Given the description of an element on the screen output the (x, y) to click on. 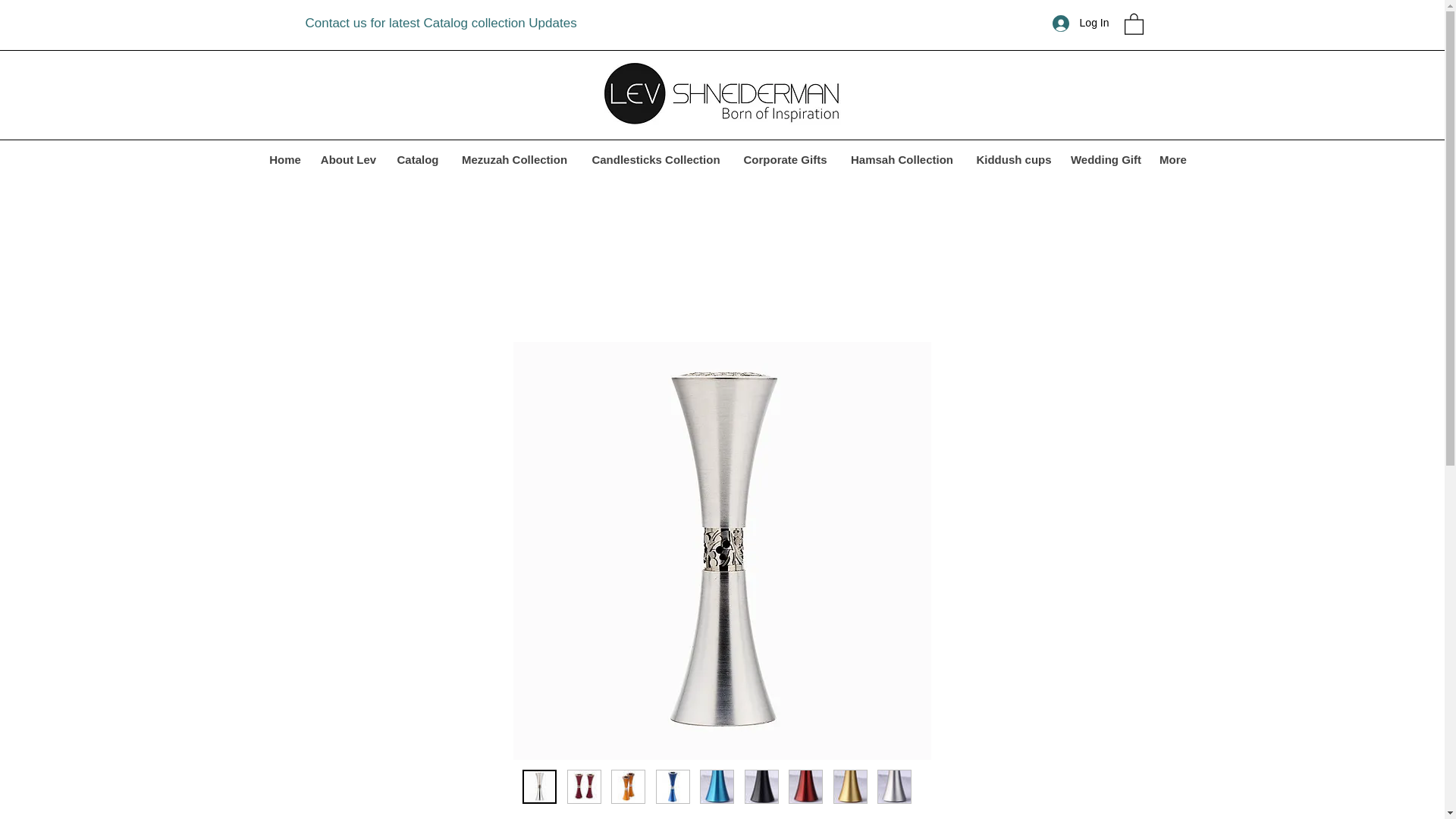
Log In (1080, 22)
Candlesticks Collection (655, 159)
Hamsah Collection (902, 159)
Catalog (418, 159)
Kiddush cups (1014, 159)
Home (284, 159)
Wedding Gift (1105, 159)
About Lev (349, 159)
Mezuzah Collection (513, 159)
Corporate Gifts (785, 159)
